Given the description of an element on the screen output the (x, y) to click on. 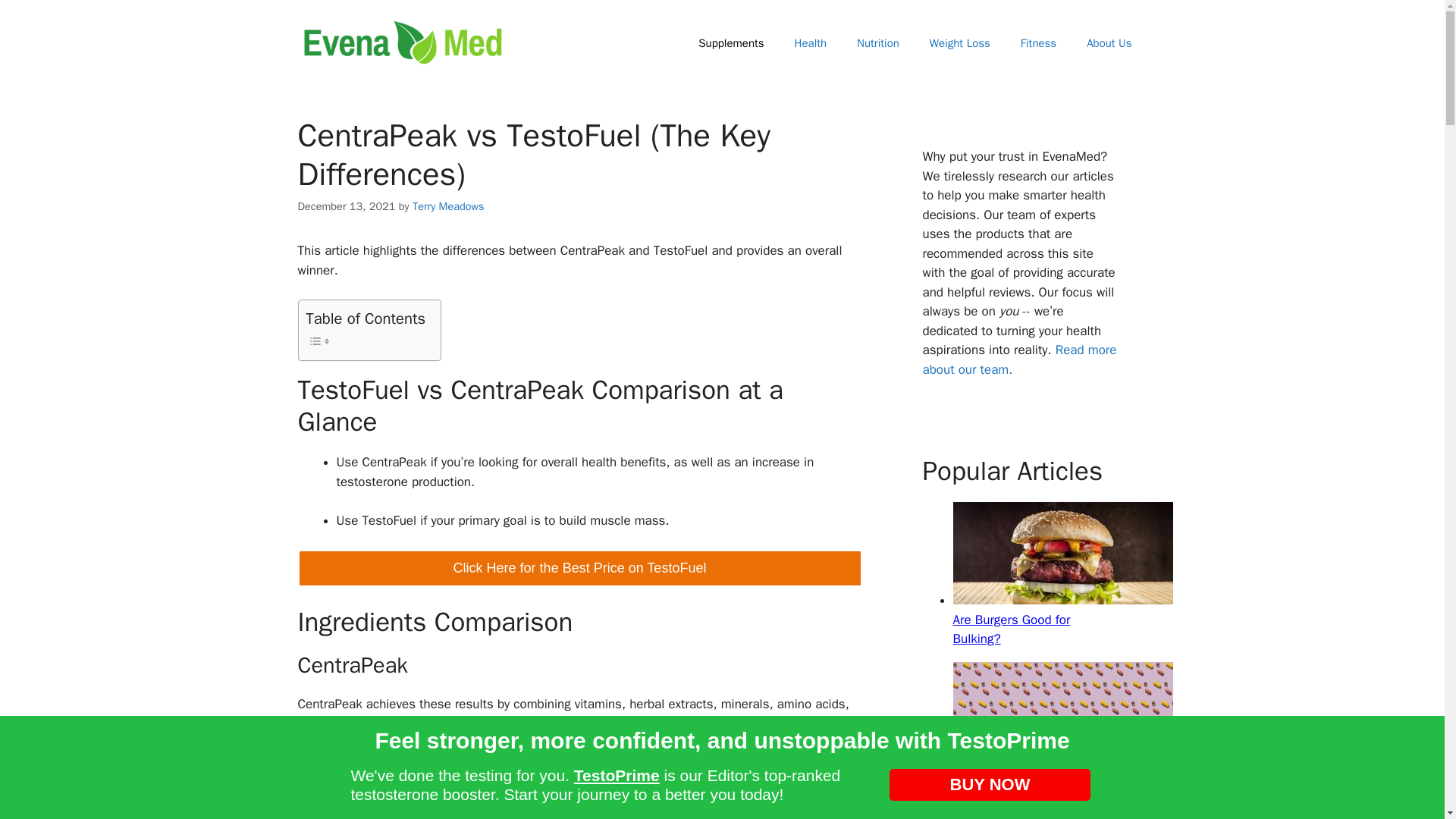
BUY NOW (989, 784)
Supplements (730, 43)
Terry Meadows (448, 205)
View all posts by Terry Meadows (448, 205)
Weight Loss (960, 43)
Nutrition (877, 43)
About Us (1109, 43)
Click Here for the Best Price on TestoFuel (579, 568)
Health (810, 43)
Read more about our team. (1018, 359)
Fitness (1038, 43)
